Given the description of an element on the screen output the (x, y) to click on. 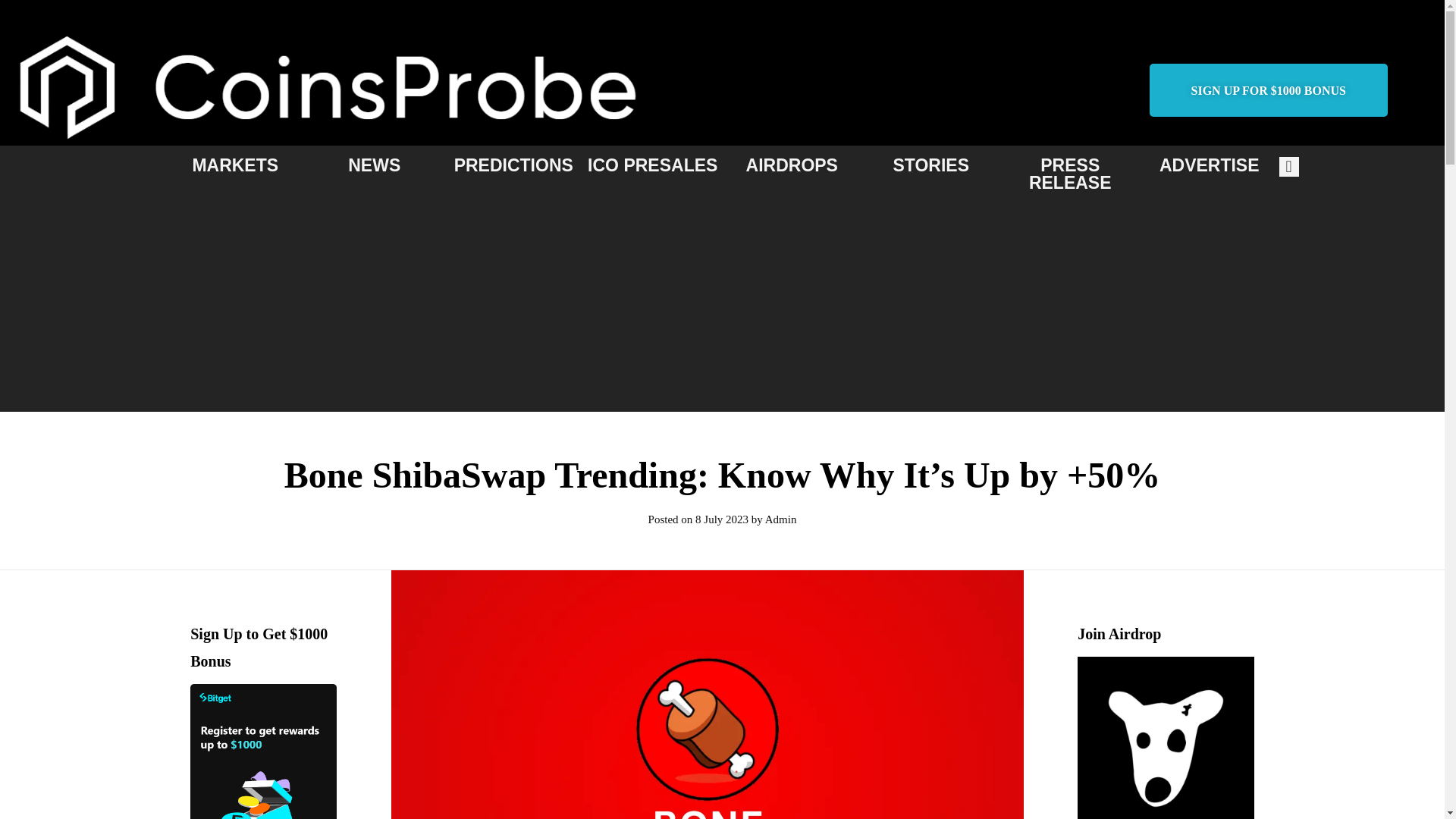
NEWS (373, 165)
PREDICTIONS (513, 165)
PRESS RELEASE (1070, 173)
MARKETS (235, 165)
AIRDROPS (791, 165)
STORIES (930, 165)
ICO PRESALES (652, 165)
Join Airdrop (1165, 737)
ADVERTISE (1208, 165)
